Given the description of an element on the screen output the (x, y) to click on. 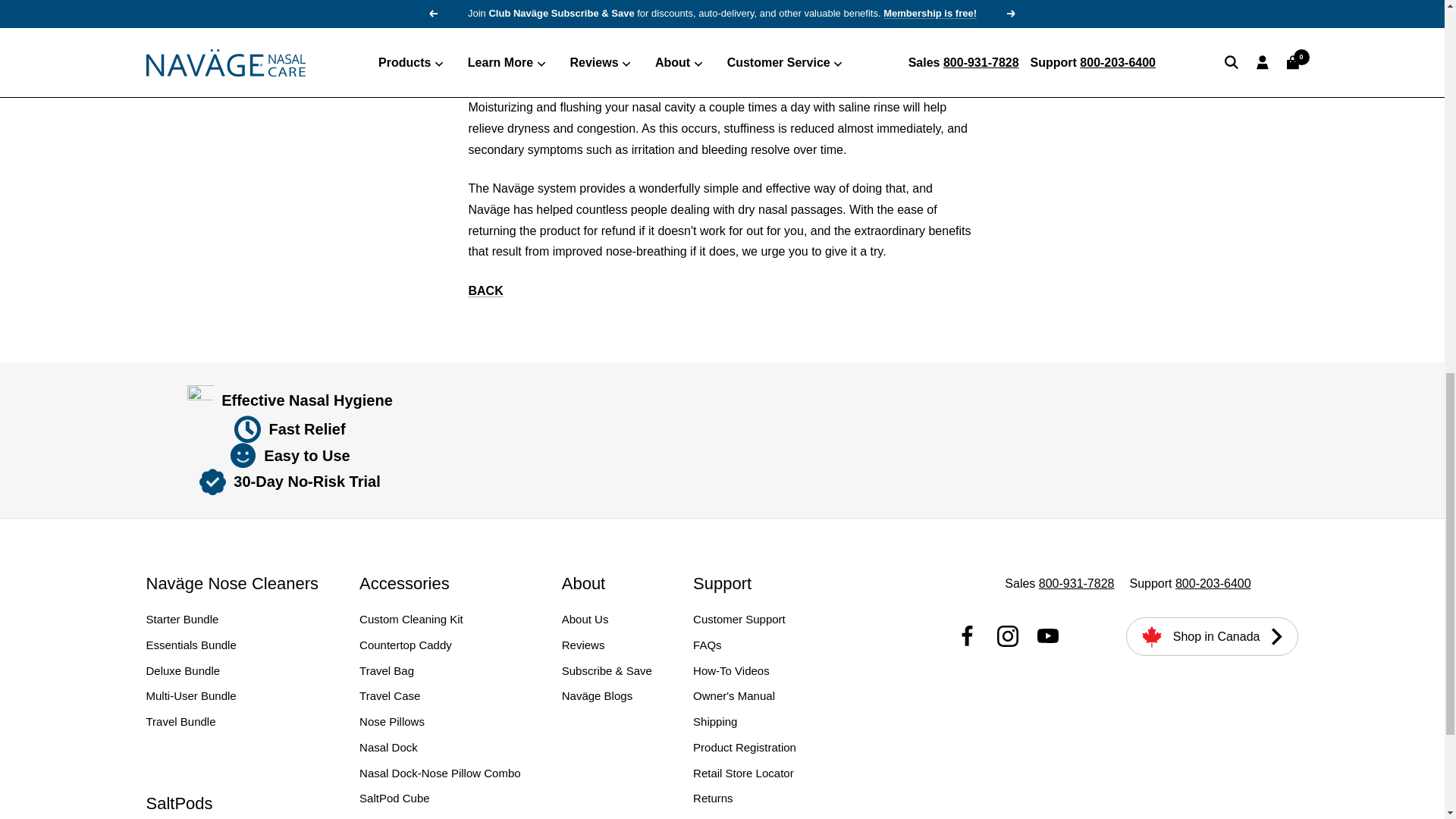
Reviews (583, 645)
Travel Bundle (180, 721)
SaltPod Cube (394, 798)
BACK (485, 290)
Essentials Bundle (190, 645)
Multi-User Bundle (190, 695)
Nose Pillows (392, 721)
Nasal Dock-Nose Pillow Combo (440, 772)
Travel Bag (386, 670)
Custom Cleaning Kit (411, 619)
Deluxe Bundle (182, 670)
Nasal Dock (388, 747)
About Us (585, 619)
Starter Bundle (181, 619)
Travel Case (389, 695)
